Given the description of an element on the screen output the (x, y) to click on. 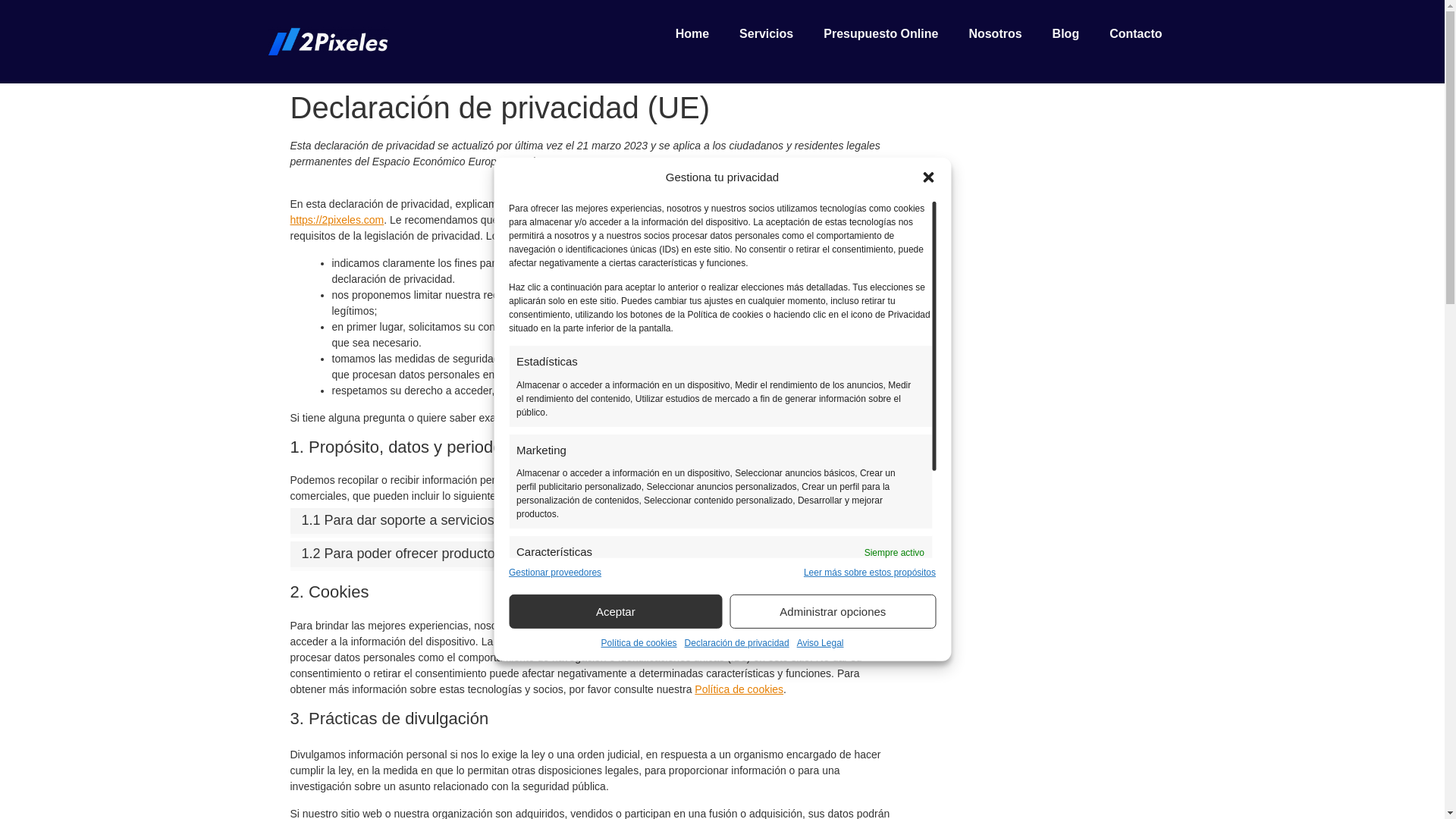
Nosotros Element type: text (994, 33)
Presupuesto Online Element type: text (880, 33)
Servicios Element type: text (766, 33)
Gestionar proveedores Element type: text (554, 572)
Administrar opciones Element type: text (832, 611)
Contacto Element type: text (1135, 33)
https://2pixeles.com Element type: text (336, 219)
Home Element type: text (692, 33)
Blog Element type: text (1066, 33)
Aceptar Element type: text (615, 611)
Aviso Legal Element type: text (820, 642)
